Given the description of an element on the screen output the (x, y) to click on. 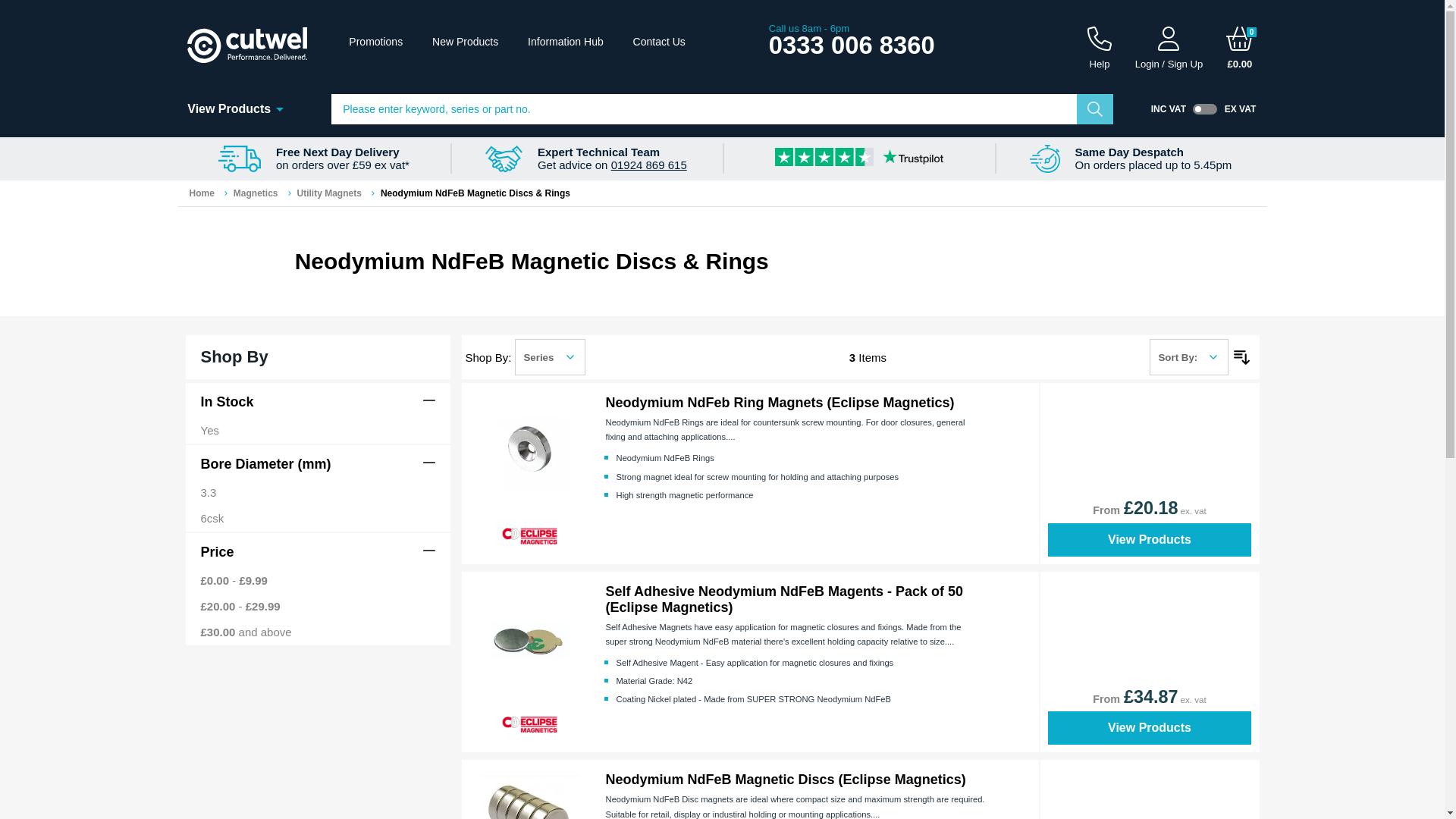
Information Hub (565, 41)
Cutwel Ltd (247, 44)
Contact Us (659, 41)
0333 006 8360 (851, 44)
New Products (464, 41)
Promotions (376, 41)
Promotions (376, 41)
New Products (464, 41)
Contact Us (659, 41)
Information Hub (565, 41)
